Given the description of an element on the screen output the (x, y) to click on. 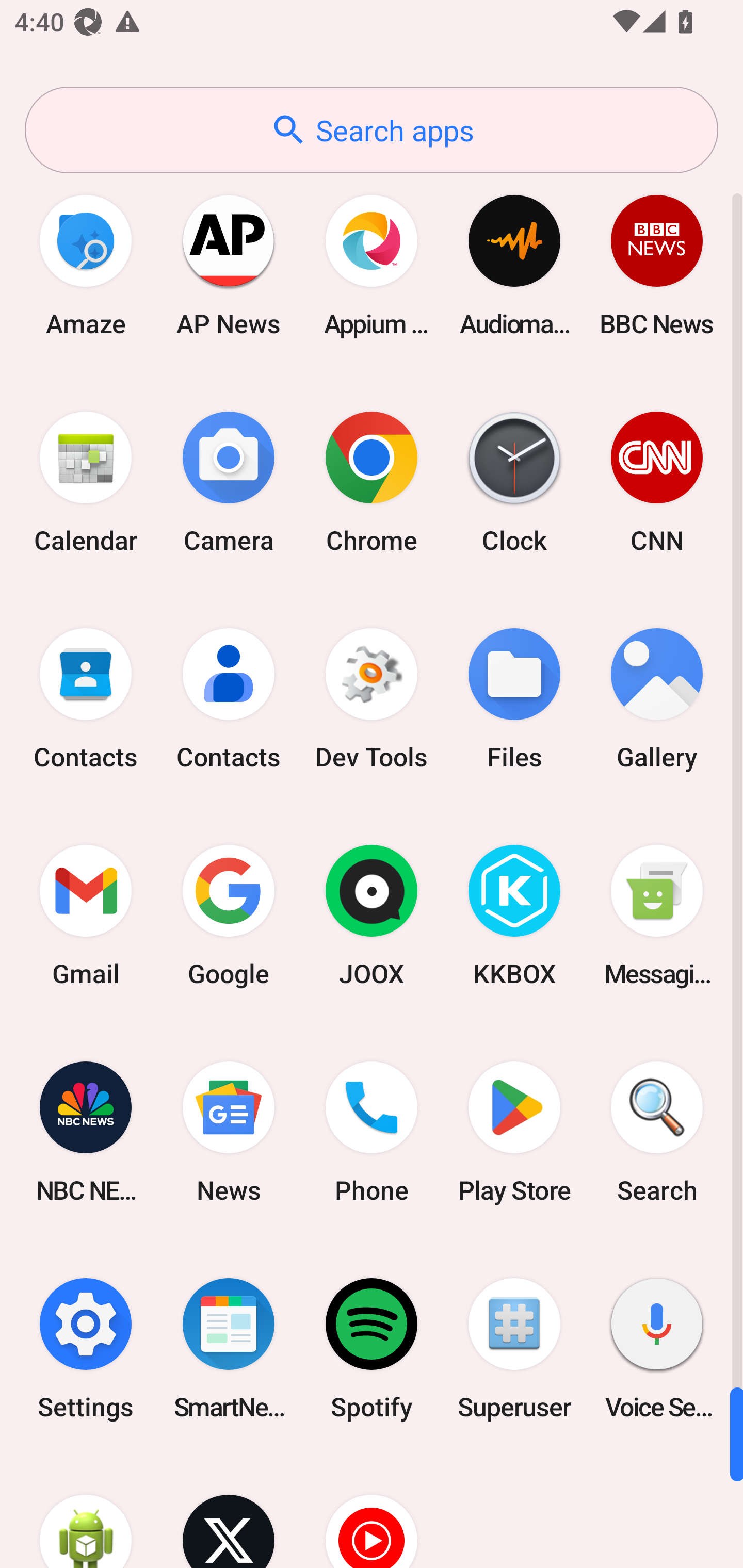
  Search apps (371, 130)
Amaze (85, 264)
AP News (228, 264)
Appium Settings (371, 264)
Audio­mack (514, 264)
BBC News (656, 264)
Calendar (85, 482)
Camera (228, 482)
Chrome (371, 482)
Clock (514, 482)
CNN (656, 482)
Contacts (85, 699)
Contacts (228, 699)
Dev Tools (371, 699)
Files (514, 699)
Gallery (656, 699)
Gmail (85, 915)
Google (228, 915)
JOOX (371, 915)
KKBOX (514, 915)
Messaging (656, 915)
NBC NEWS (85, 1131)
News (228, 1131)
Phone (371, 1131)
Play Store (514, 1131)
Search (656, 1131)
Settings (85, 1348)
SmartNews (228, 1348)
Spotify (371, 1348)
Superuser (514, 1348)
Voice Search (656, 1348)
WebView Browser Tester (85, 1512)
X (228, 1512)
YT Music (371, 1512)
